Given the description of an element on the screen output the (x, y) to click on. 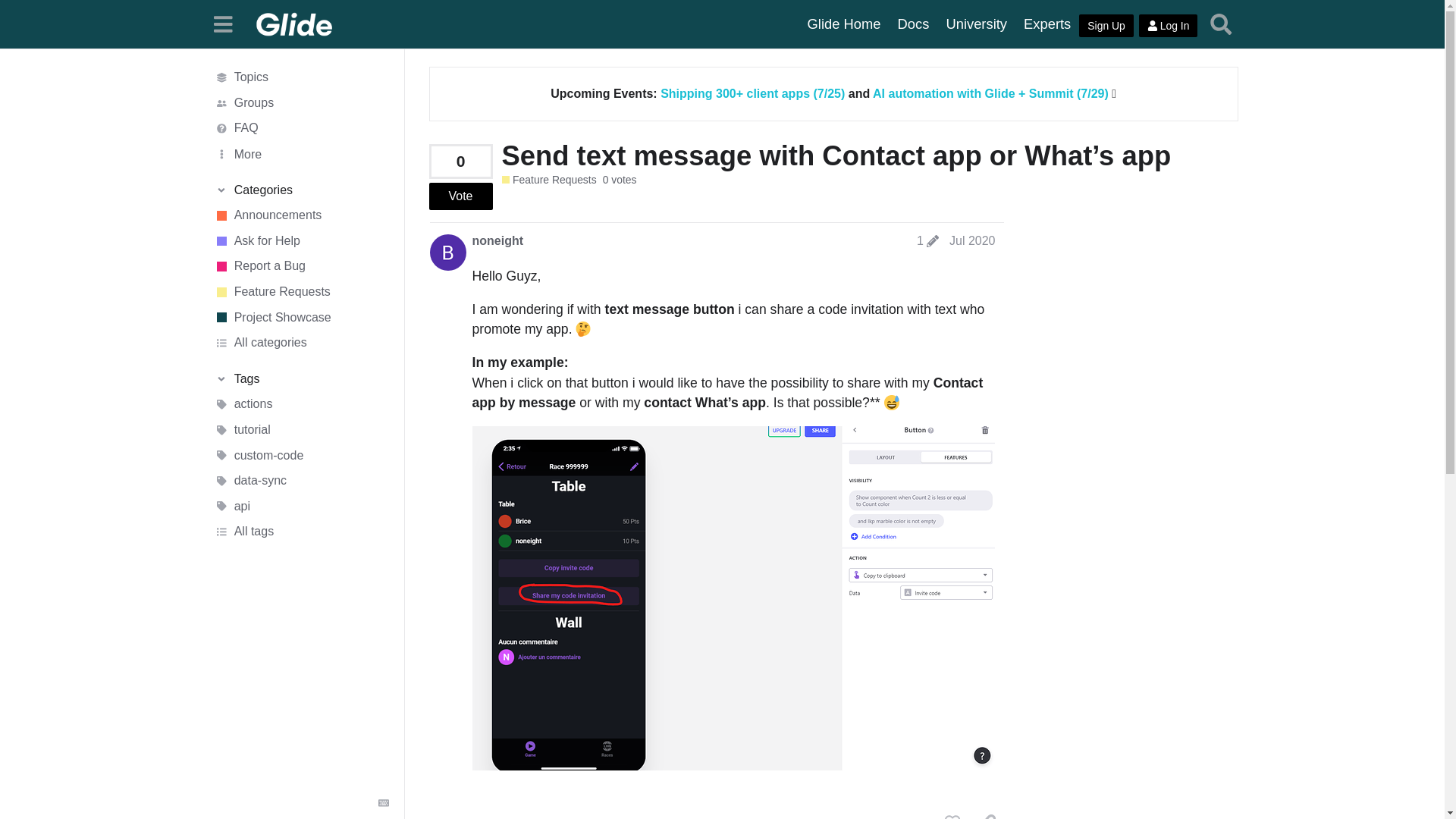
Report a Bug (301, 266)
More (301, 153)
Official announcements from the Glide team. (301, 216)
Tags (301, 379)
data-sync (301, 481)
All categories (301, 343)
Use this section to report any platform-related issues. (301, 266)
FAQ (301, 128)
Search (1220, 23)
Feature Requests (301, 291)
Experts (1046, 23)
Categories (301, 190)
Sign Up (1105, 25)
Glide Home (844, 23)
Guidelines for using this site (301, 128)
